Given the description of an element on the screen output the (x, y) to click on. 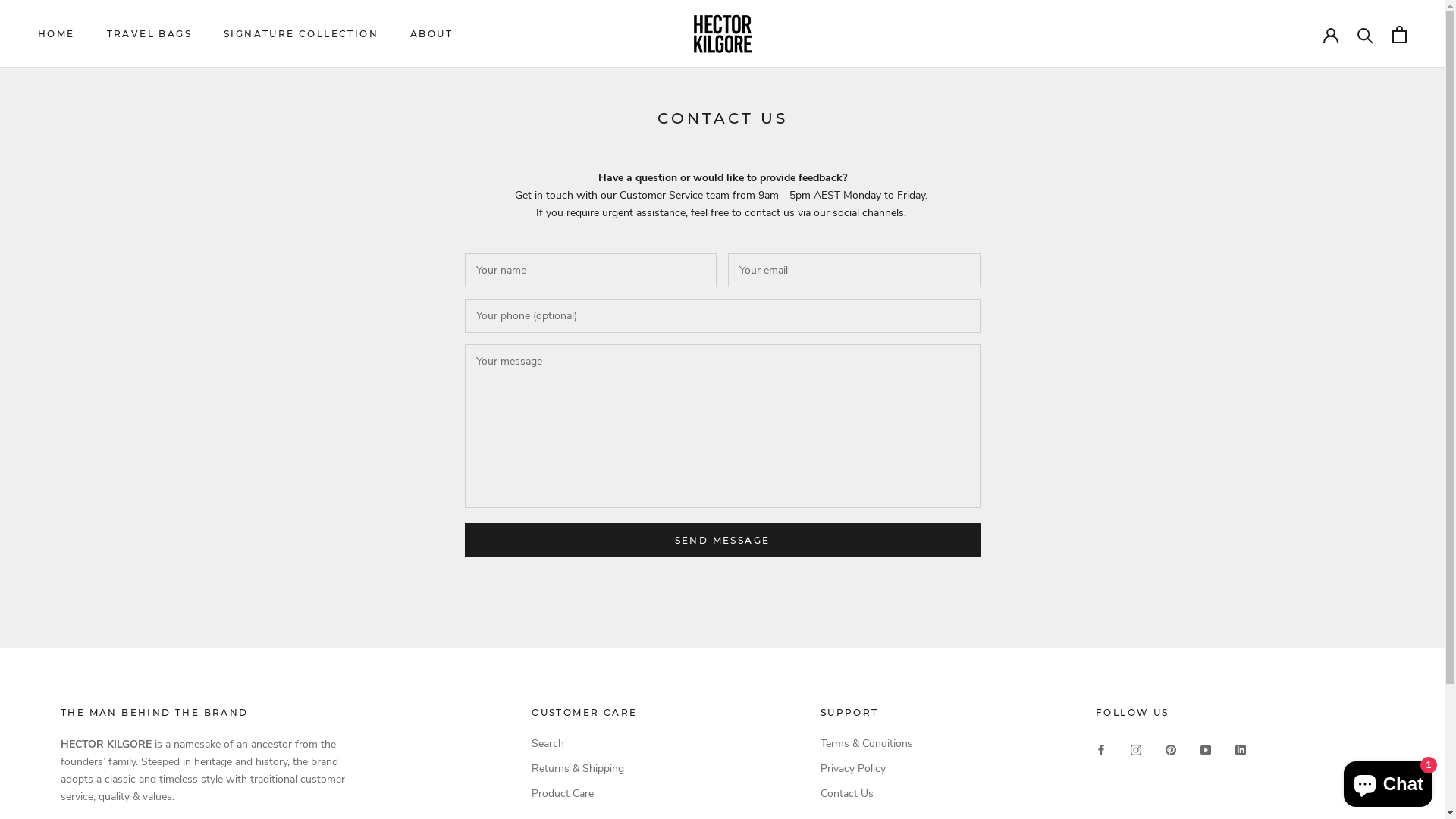
TRAVEL BAGS Element type: text (148, 33)
SEND MESSAGE Element type: text (721, 540)
Returns & Shipping Element type: text (584, 768)
Search Element type: text (584, 743)
Terms & Conditions Element type: text (866, 743)
Privacy Policy Element type: text (866, 768)
Contact Us Element type: text (866, 793)
Product Care Element type: text (584, 793)
Shopify online store chat Element type: hover (1388, 780)
HOME
HOME Element type: text (56, 33)
SIGNATURE COLLECTION Element type: text (300, 33)
ABOUT Element type: text (431, 33)
